Given the description of an element on the screen output the (x, y) to click on. 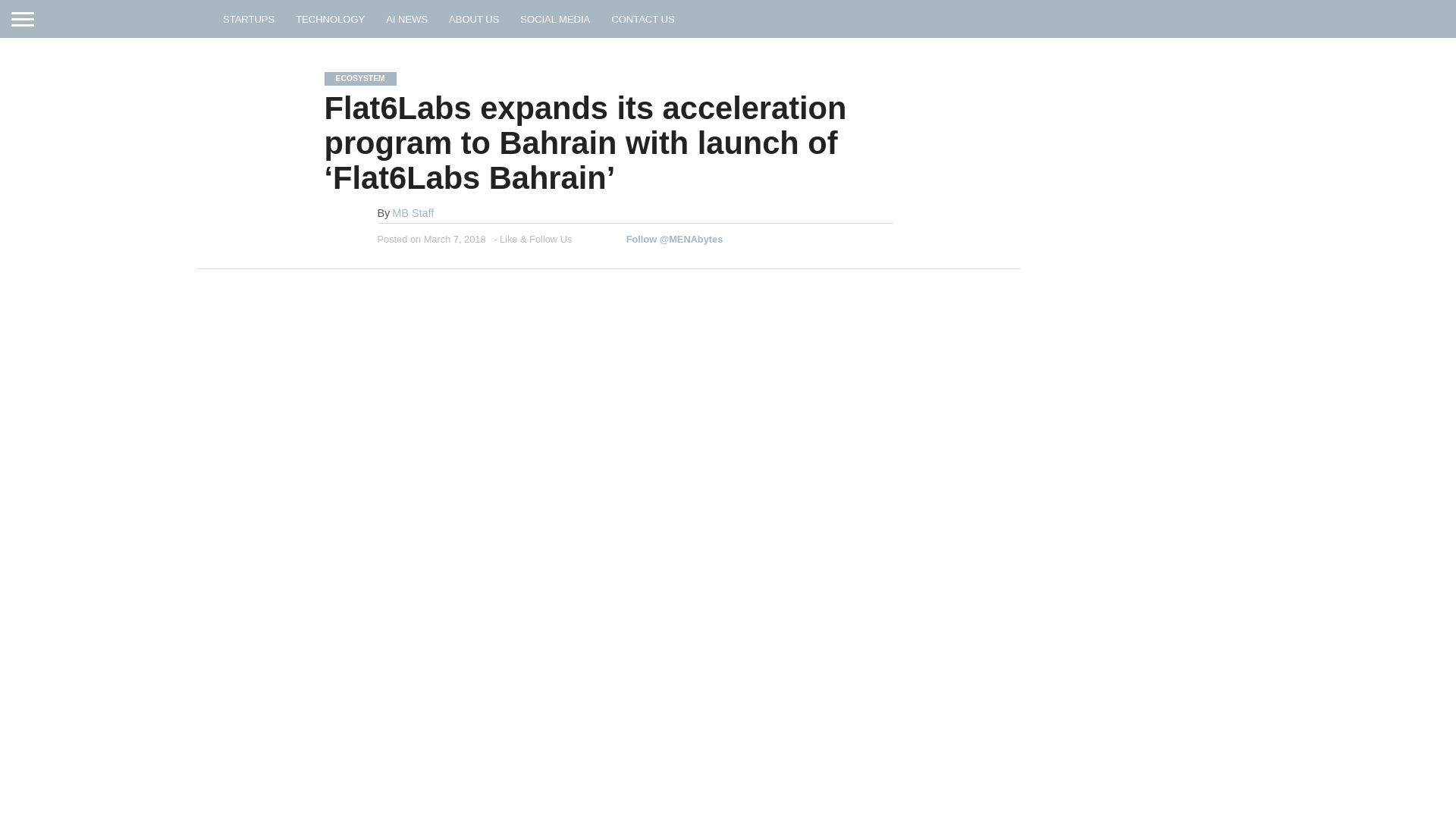
STARTUPS (248, 18)
ABOUT US (473, 18)
MB Staff (412, 213)
TECHNOLOGY (330, 18)
Posts by MB Staff (412, 213)
SOCIAL MEDIA (554, 18)
CONTACT US (641, 18)
AI NEWS (406, 18)
